Given the description of an element on the screen output the (x, y) to click on. 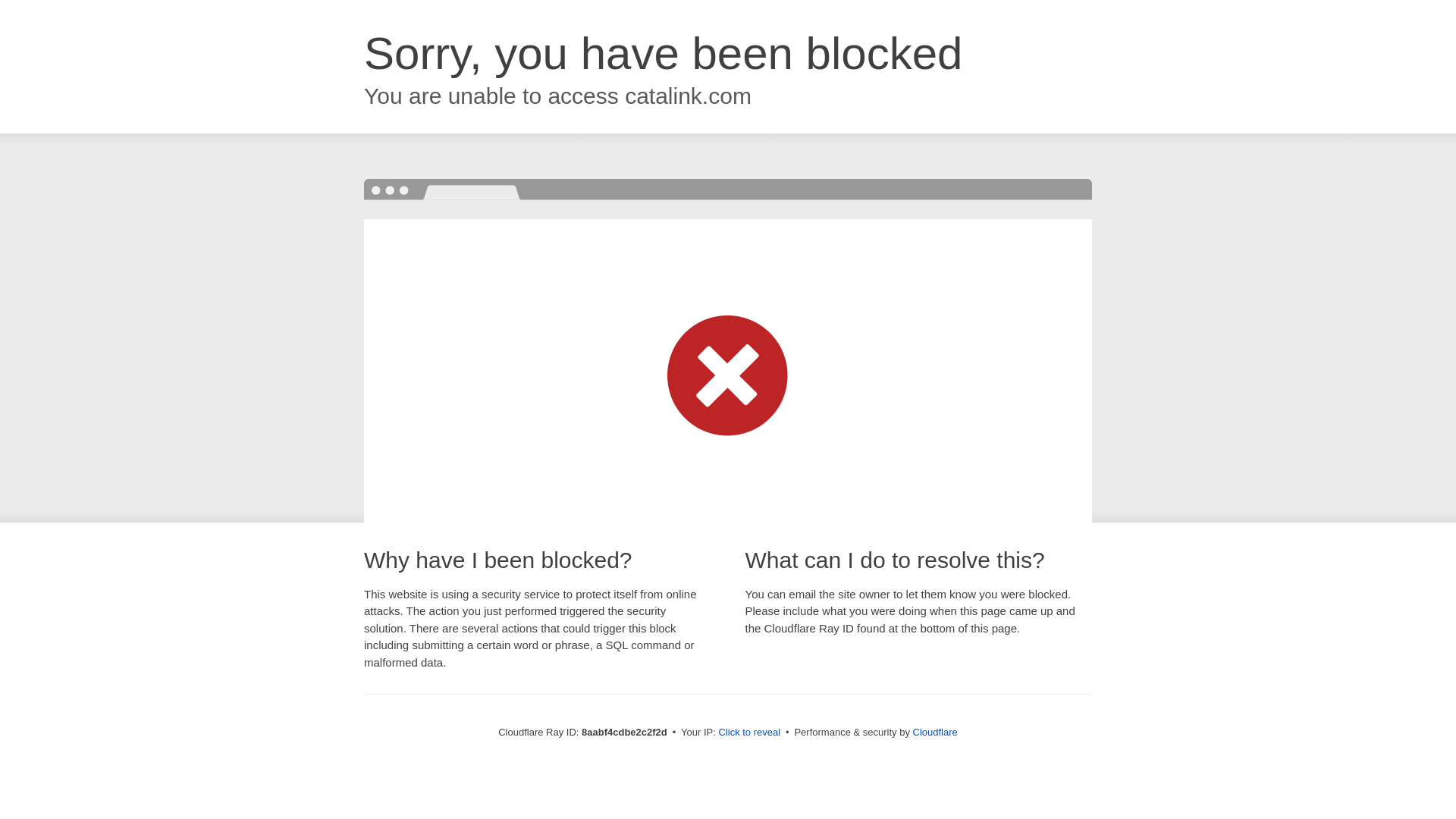
Click to reveal (748, 732)
Cloudflare (935, 731)
